Given the description of an element on the screen output the (x, y) to click on. 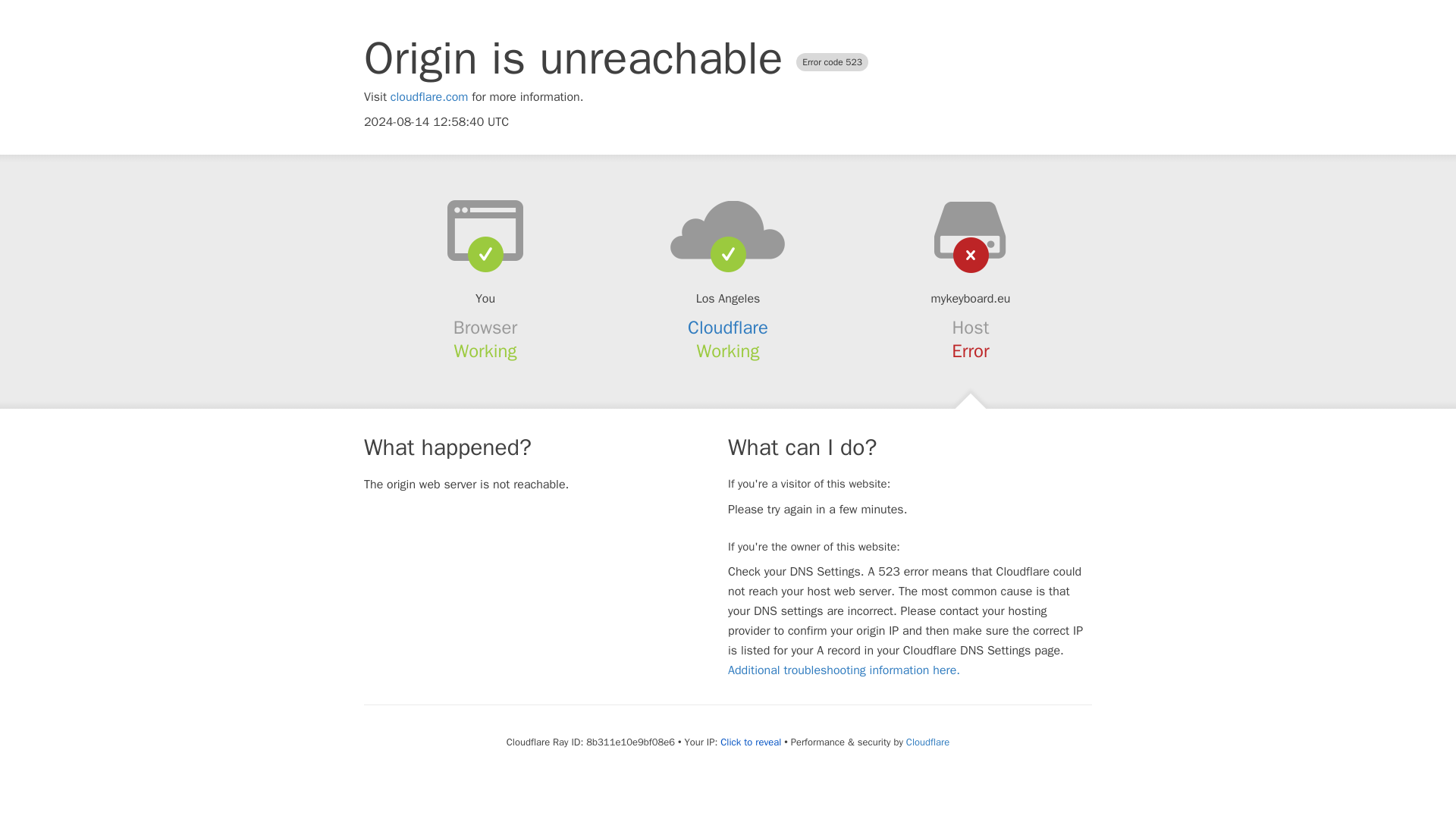
Additional troubleshooting information here. (843, 670)
Click to reveal (750, 742)
Cloudflare (727, 327)
Cloudflare (927, 741)
cloudflare.com (429, 96)
